Given the description of an element on the screen output the (x, y) to click on. 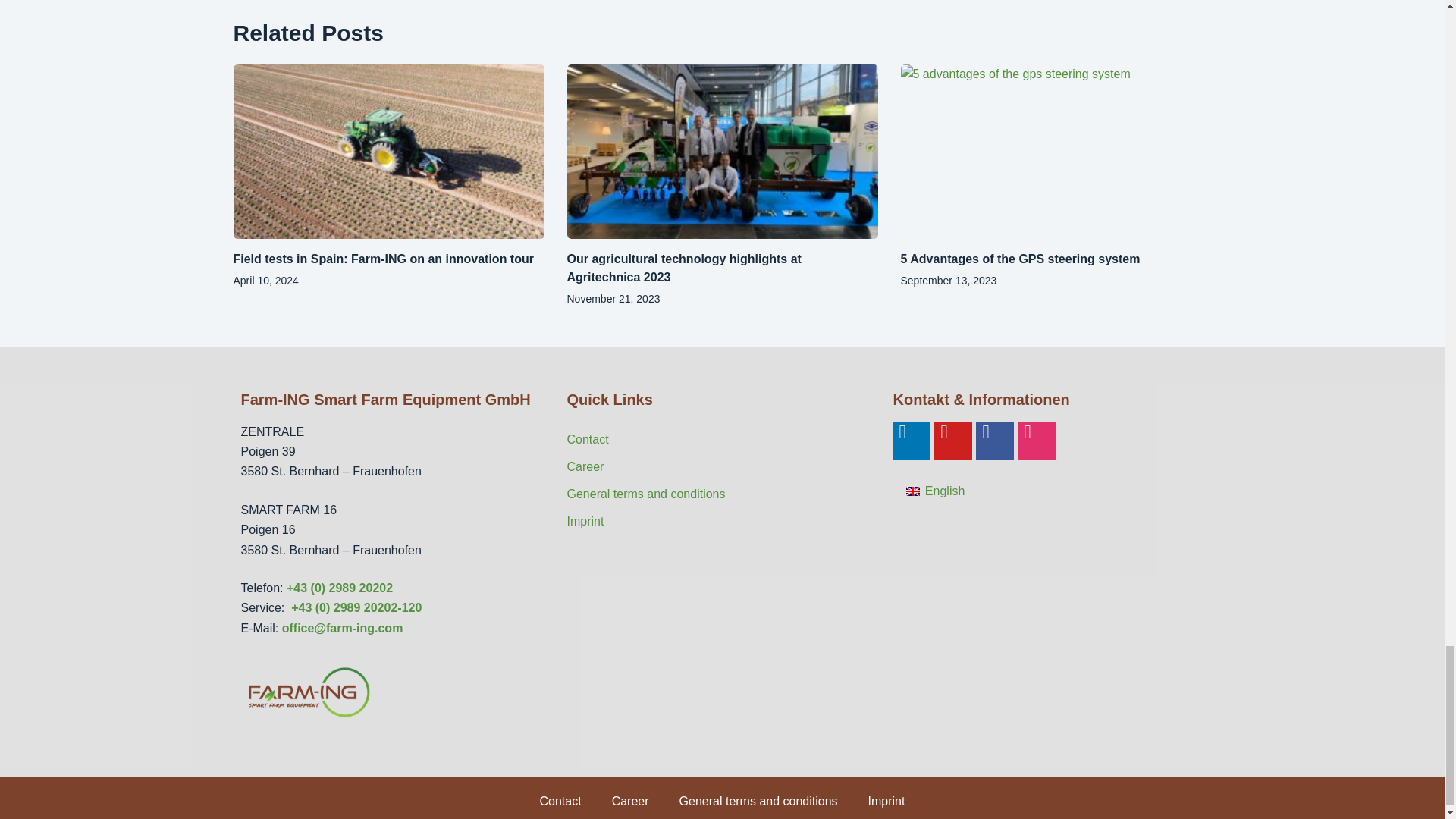
Field tests in Spain: Farm-ING on an innovation tour (383, 258)
Our agricultural technology highlights at Agritechnica 2023 (684, 267)
5 Advantages of the GPS steering system (1020, 258)
General terms and conditions (721, 493)
Contact (721, 439)
Career (721, 466)
